Given the description of an element on the screen output the (x, y) to click on. 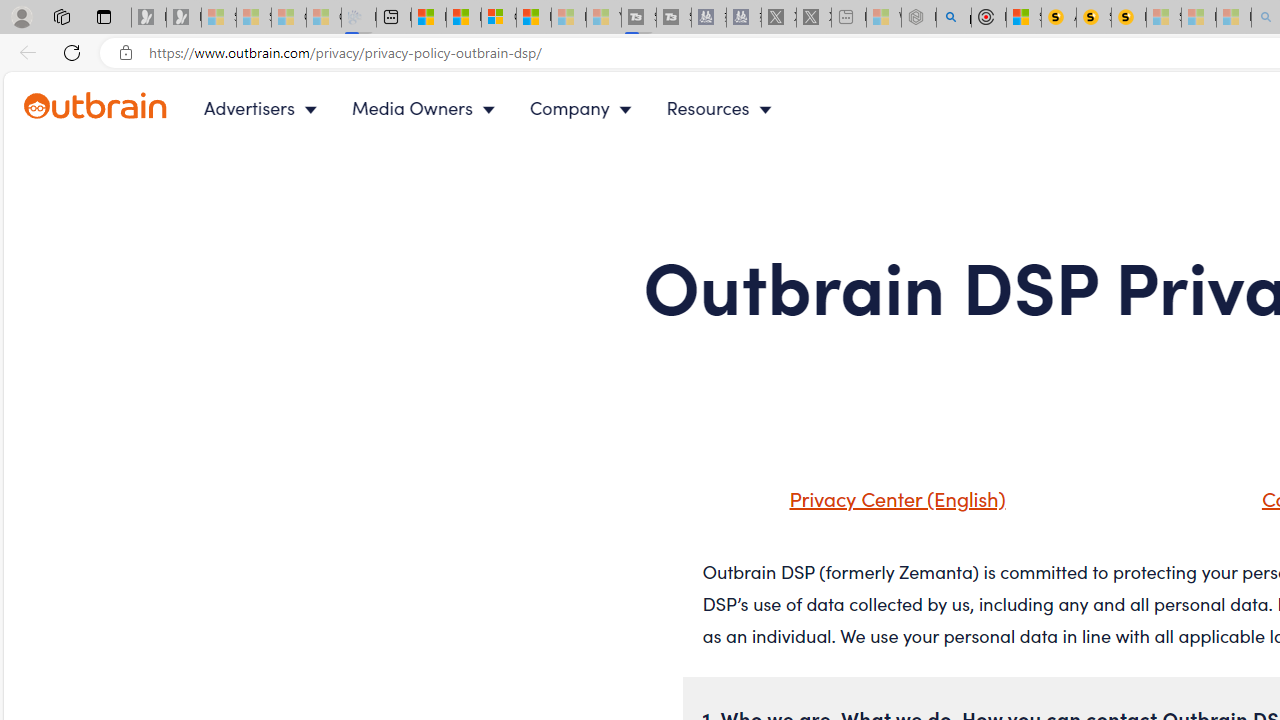
Outbrain logo - link to homepage (96, 106)
Advertisers (264, 107)
Company (585, 107)
Michelle Starr, Senior Journalist at ScienceAlert (1128, 17)
Outbrain logo - link to homepage (118, 107)
Overview (498, 17)
